Given the description of an element on the screen output the (x, y) to click on. 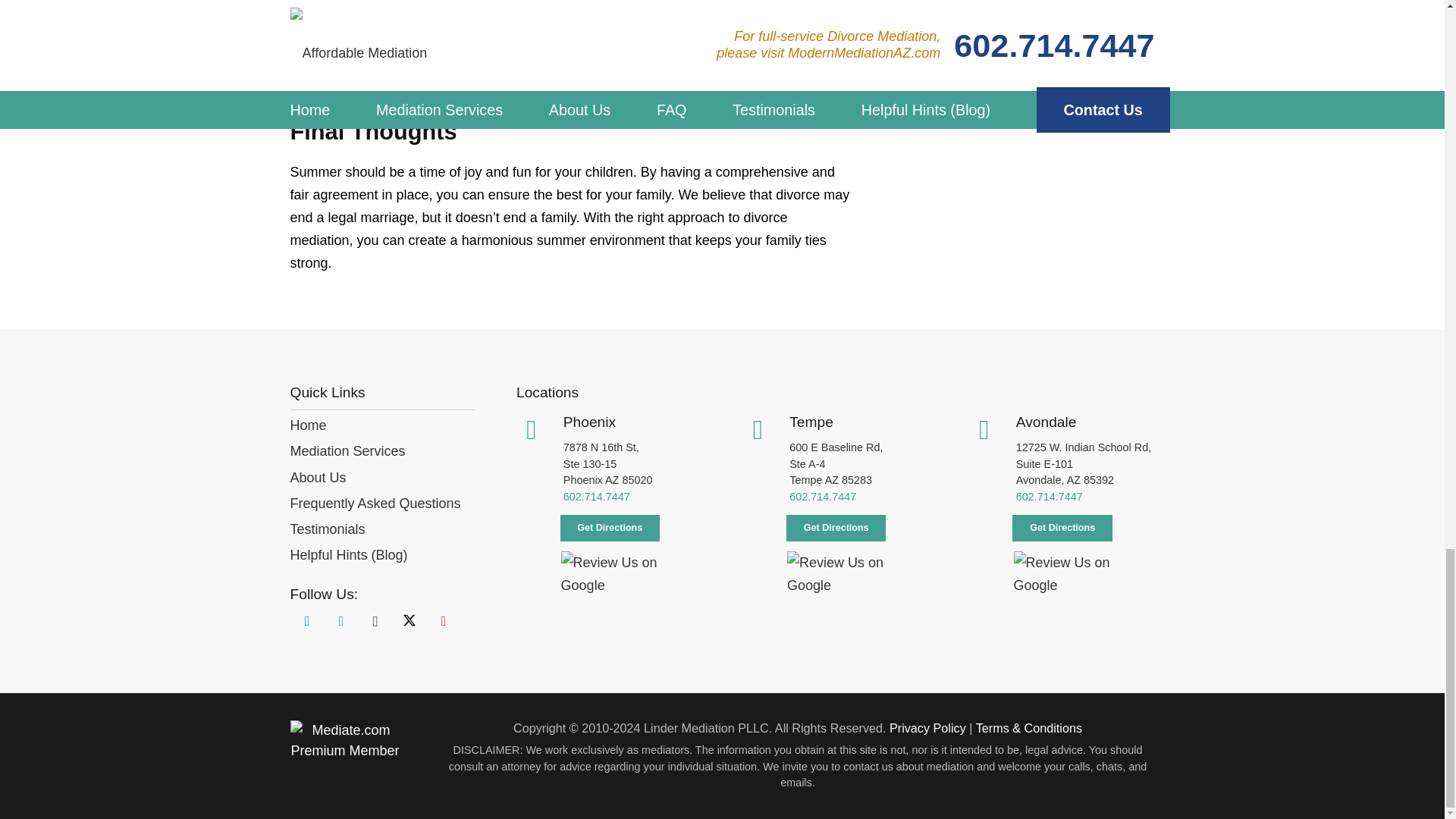
YouTube (443, 621)
Twitter (409, 621)
Instagram (374, 621)
Facebook (341, 621)
Mediate.com Profile (343, 750)
LinkedIn (306, 621)
